Given the description of an element on the screen output the (x, y) to click on. 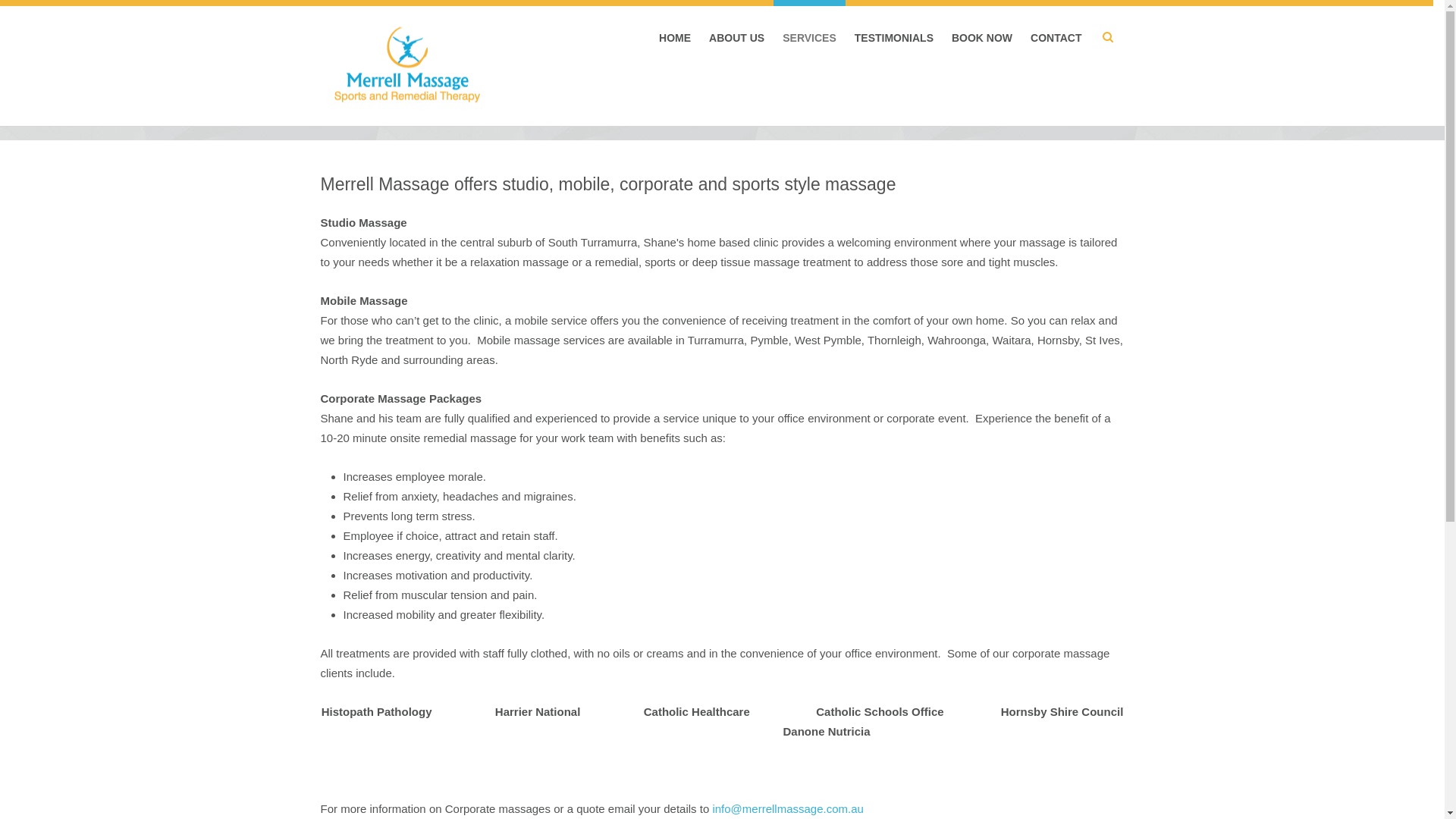
BOOK NOW Element type: text (981, 37)
CONTACT Element type: text (1055, 37)
TESTIMONIALS Element type: text (893, 37)
SERVICES Element type: text (809, 37)
HOME Element type: text (674, 37)
info@merrellmassage.com.au Element type: text (787, 808)
ABOUT US Element type: text (736, 37)
